Given the description of an element on the screen output the (x, y) to click on. 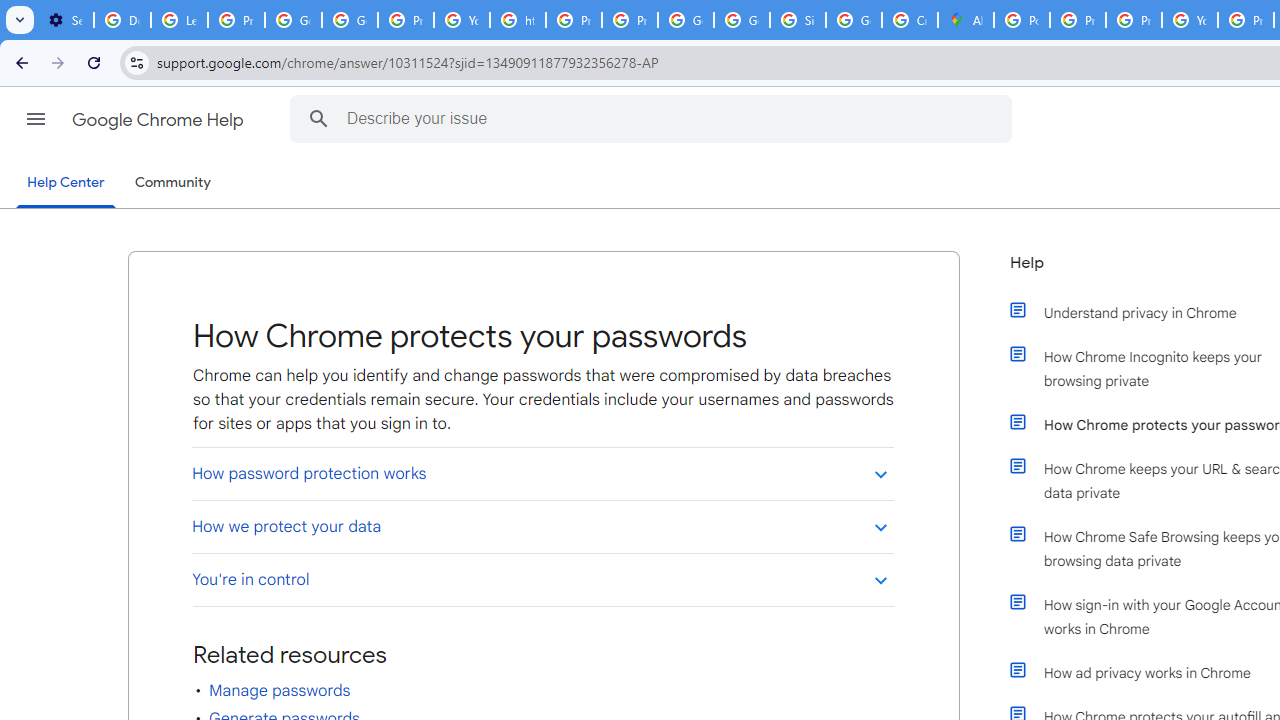
How we protect your data (542, 525)
Google Chrome Help (159, 119)
Privacy Help Center - Policies Help (573, 20)
Help Center (65, 183)
Settings - On startup (65, 20)
Privacy Help Center - Policies Help (1077, 20)
Create your Google Account (909, 20)
Policy Accountability and Transparency - Transparency Center (1021, 20)
